Given the description of an element on the screen output the (x, y) to click on. 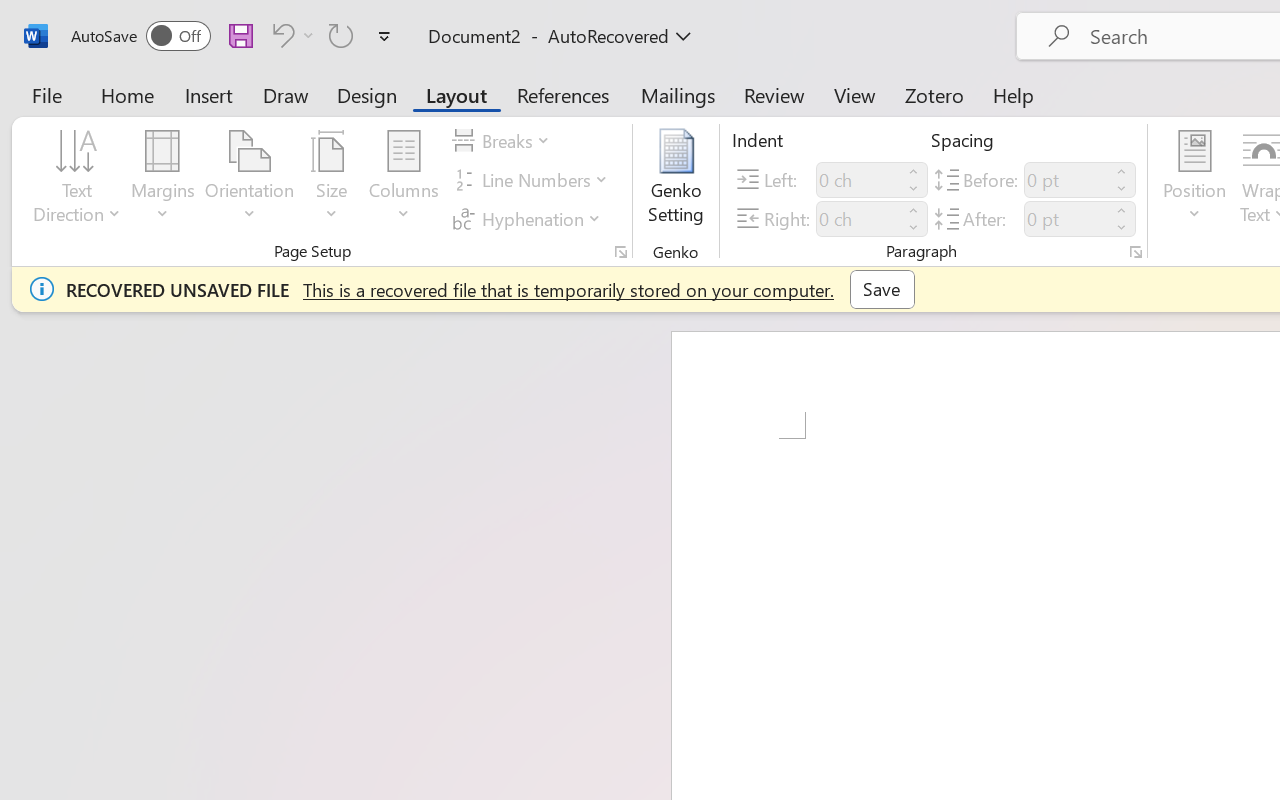
Line Numbers (532, 179)
Paragraph... (1135, 252)
Breaks (504, 141)
Help (1013, 94)
Columns (404, 179)
Can't Undo (280, 35)
Spacing Before (1066, 179)
Spacing After (1066, 218)
Genko Setting... (676, 179)
Size (331, 179)
Orientation (250, 179)
